Given the description of an element on the screen output the (x, y) to click on. 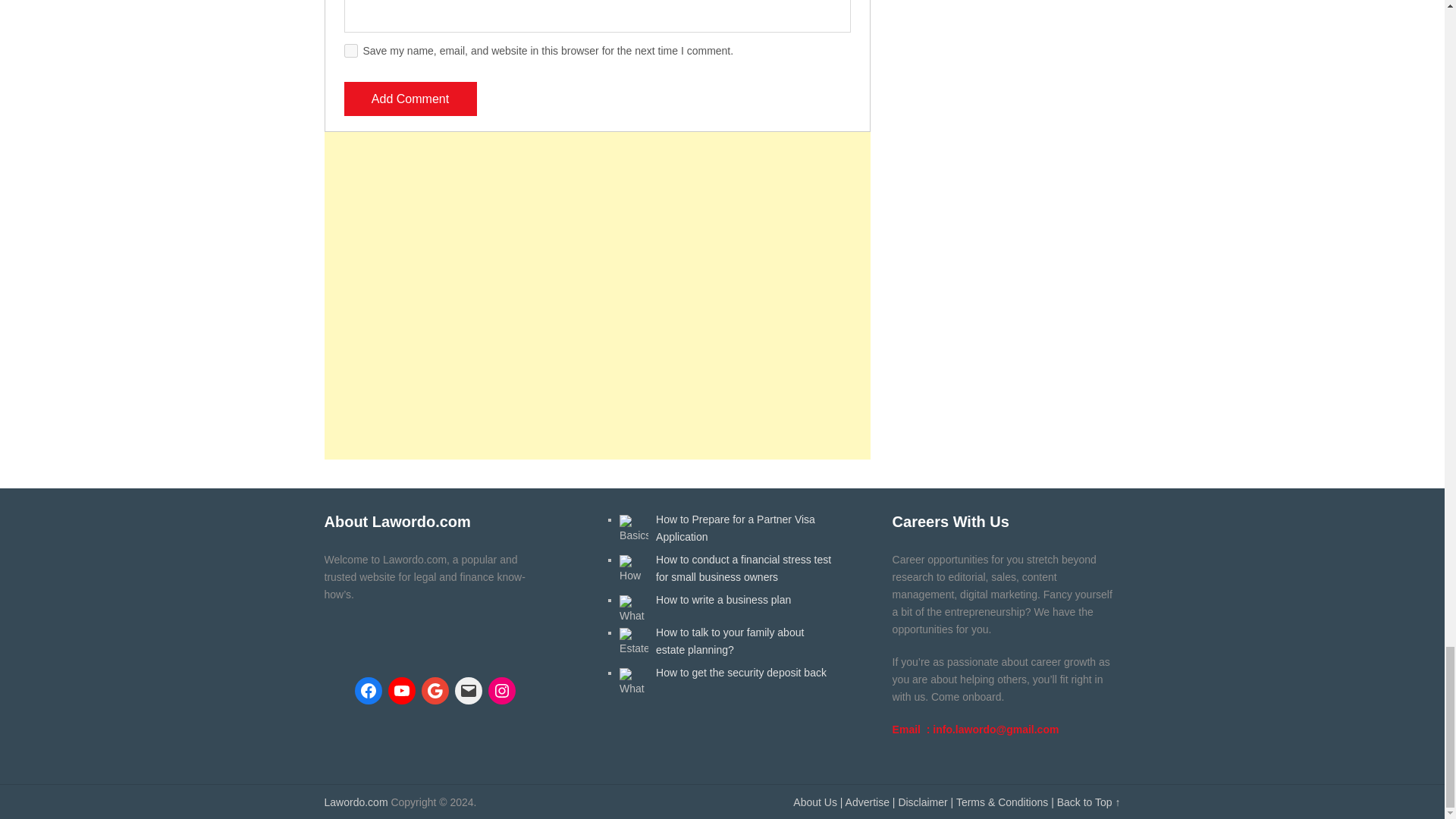
yes (350, 50)
Add Comment (410, 98)
Add Comment (410, 98)
